Given the description of an element on the screen output the (x, y) to click on. 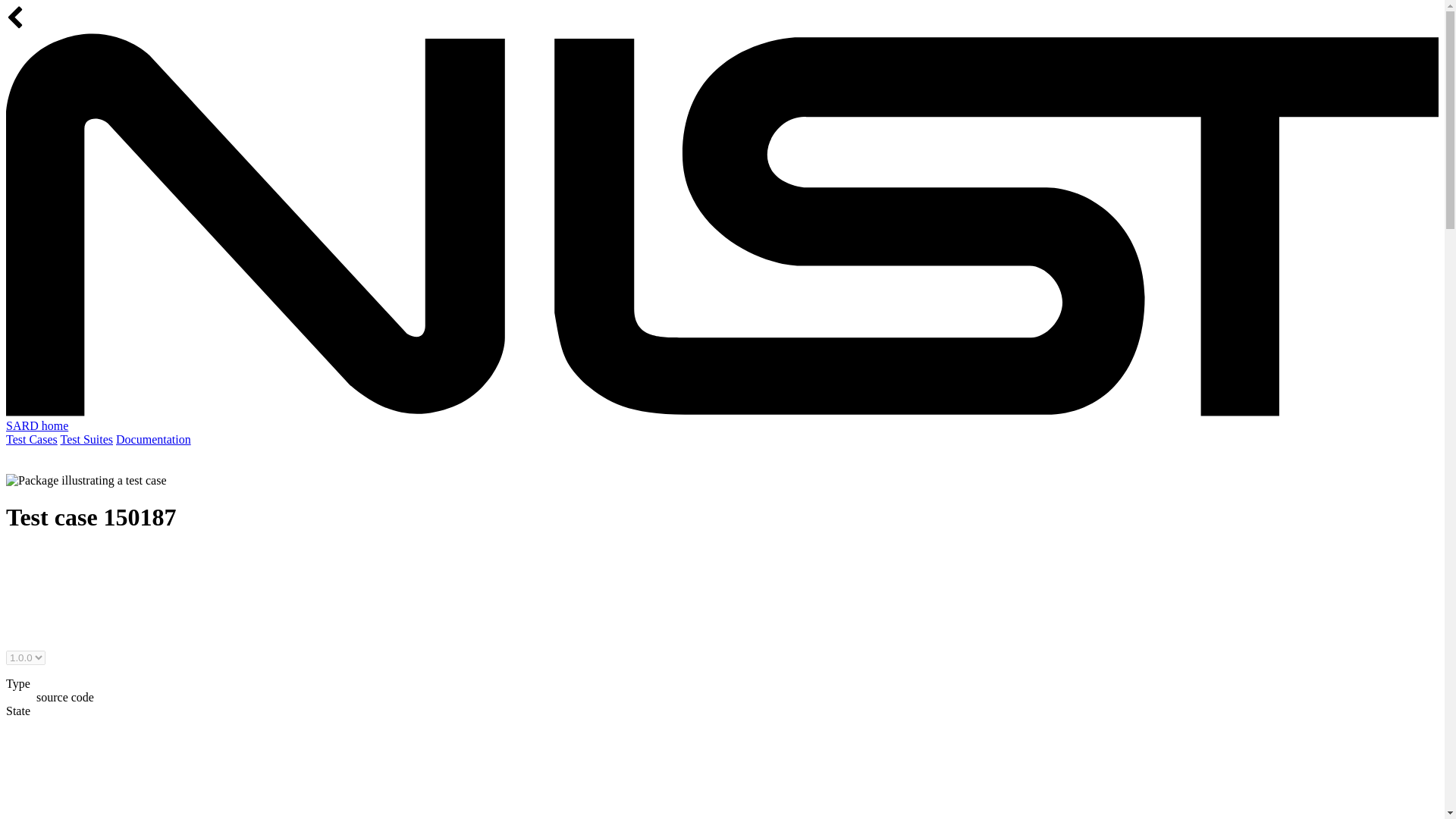
Documentation (153, 439)
Test Suites (86, 439)
SARD home (36, 425)
Test Cases (31, 439)
